Given the description of an element on the screen output the (x, y) to click on. 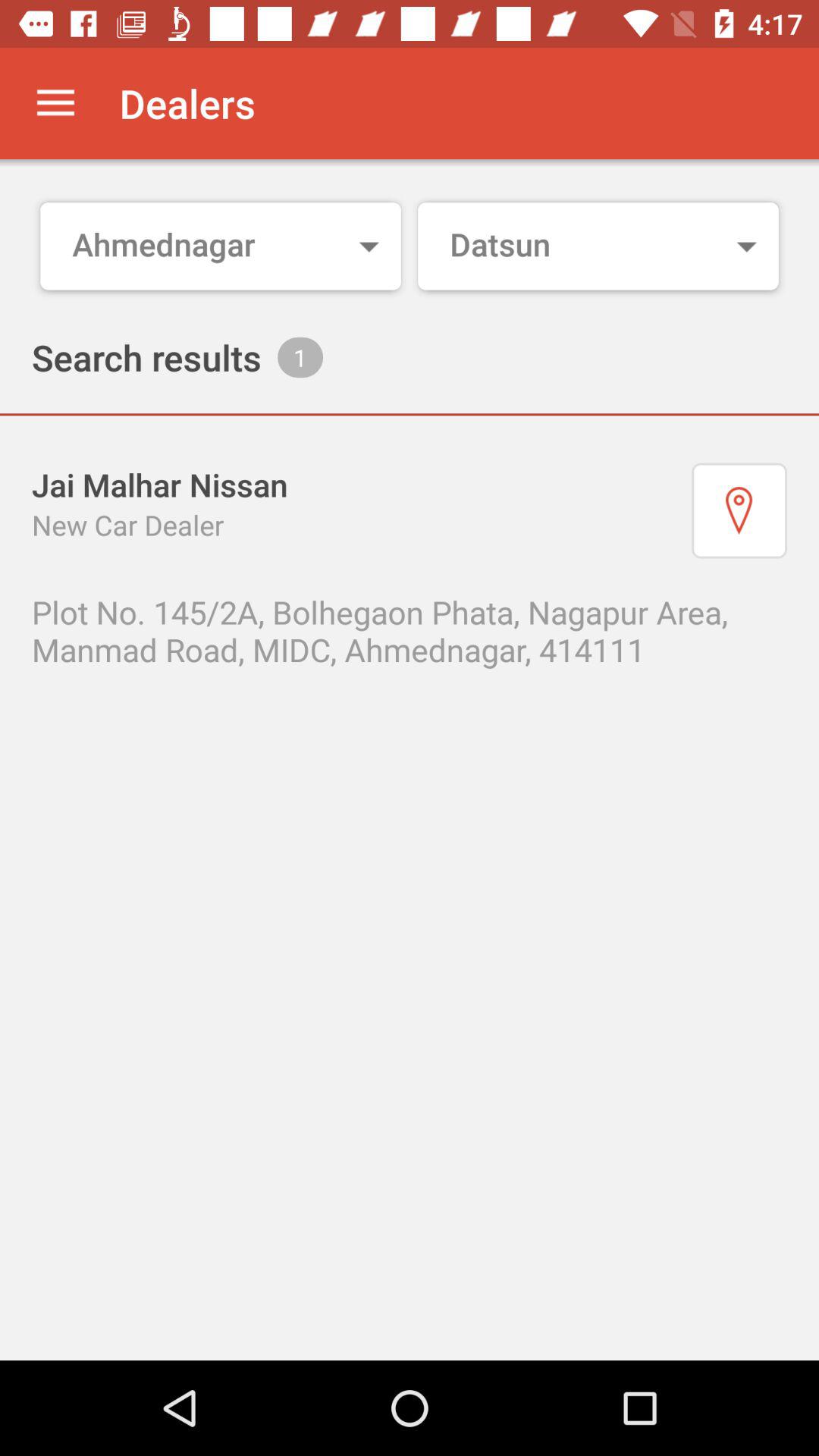
open the item to the right of the jai malhar nissan item (739, 510)
